Given the description of an element on the screen output the (x, y) to click on. 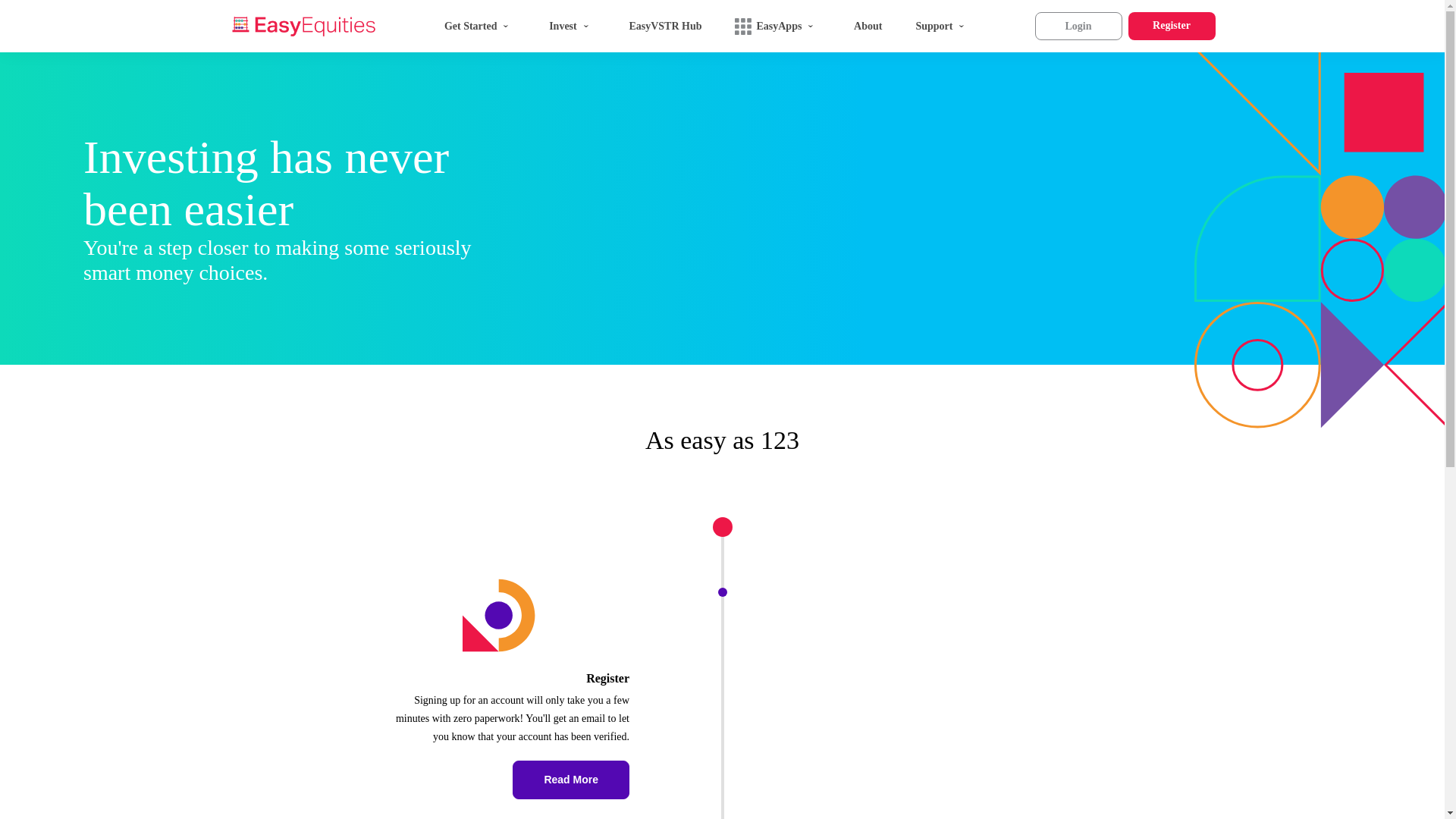
EasyApps (777, 26)
Get Started (480, 25)
Invest (571, 25)
About (867, 25)
Login (1077, 26)
Register (1171, 26)
EasyVSTR Hub (664, 25)
Support (943, 25)
Read More (570, 779)
easyequities-logo (304, 26)
